Given the description of an element on the screen output the (x, y) to click on. 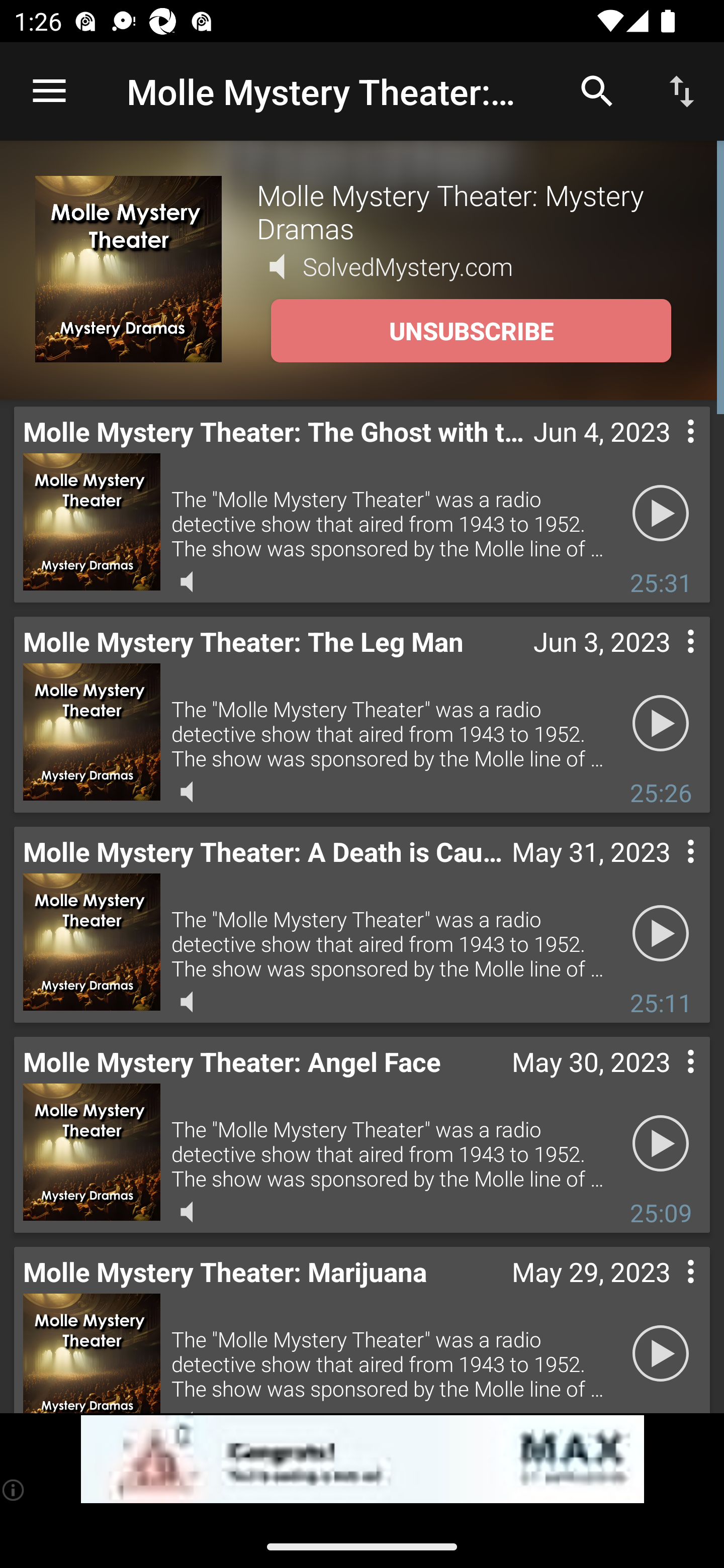
Open navigation sidebar (49, 91)
Search (597, 90)
Sort (681, 90)
UNSUBSCRIBE (470, 330)
Contextual menu (668, 451)
Play (660, 513)
Contextual menu (668, 661)
Play (660, 723)
Contextual menu (668, 870)
Play (660, 933)
Contextual menu (668, 1080)
Play (660, 1143)
Contextual menu (668, 1290)
Play (660, 1353)
app-monetization (362, 1459)
(i) (14, 1489)
